Given the description of an element on the screen output the (x, y) to click on. 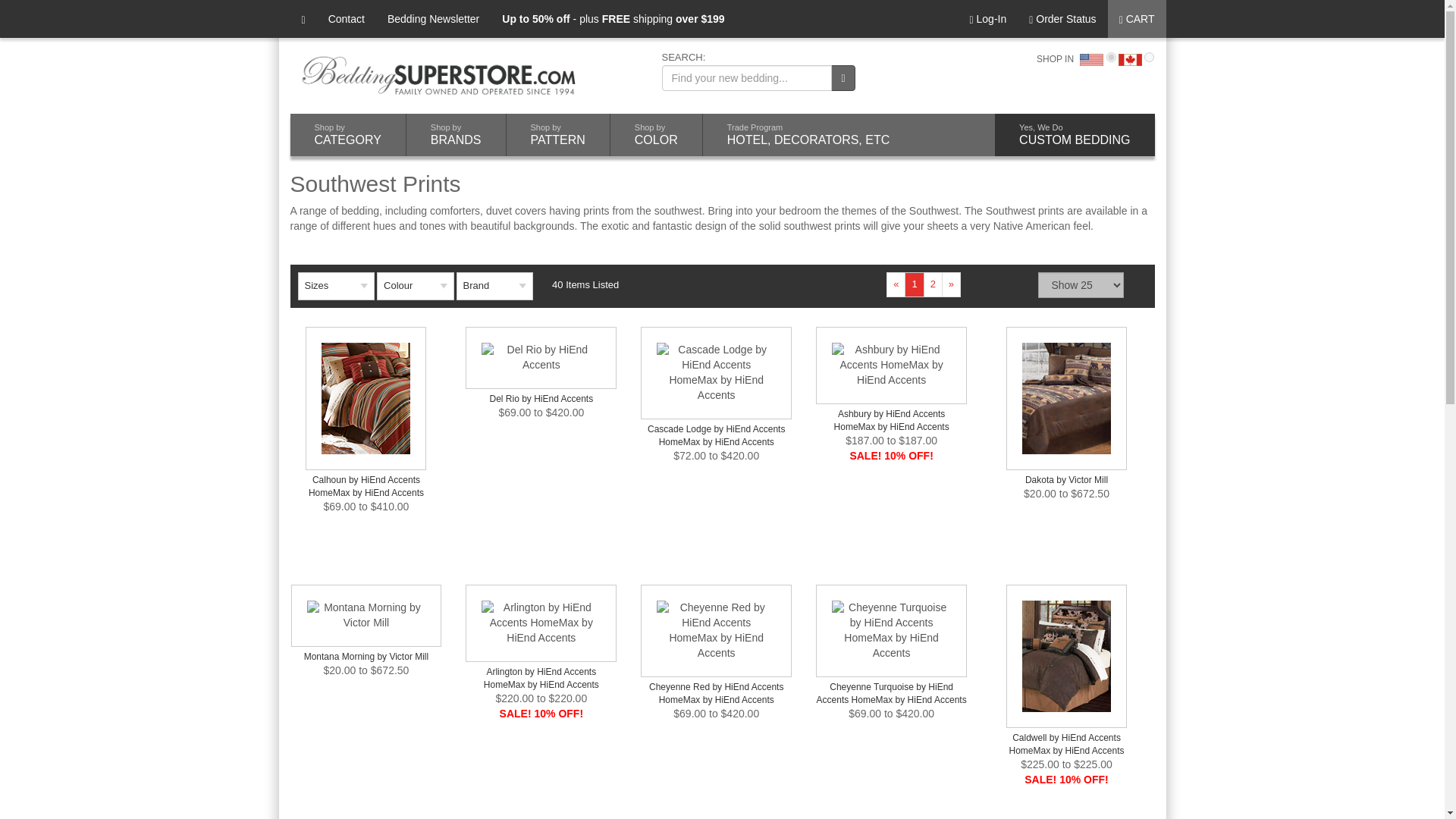
Arlington by HiEnd Accents HomeMax by HiEnd Accents (540, 622)
Contact (346, 18)
Dakota by Victor Mill (1066, 398)
Cascade Lodge by HiEnd Accents HomeMax by HiEnd Accents (716, 372)
Bedding Newsletter (432, 18)
2 (1149, 57)
1 (1111, 57)
Order Status (1061, 18)
Log-In (987, 18)
Caldwell by HiEnd Accents HomeMax by HiEnd Accents (455, 134)
Montana Morning by Victor Mill (1066, 656)
Cheyenne Turquoise by HiEnd Accents HomeMax by HiEnd Accents (366, 615)
Ashbury by HiEnd Accents HomeMax by HiEnd Accents (890, 630)
Calhoun by HiEnd Accents HomeMax by HiEnd Accents (890, 365)
